Given the description of an element on the screen output the (x, y) to click on. 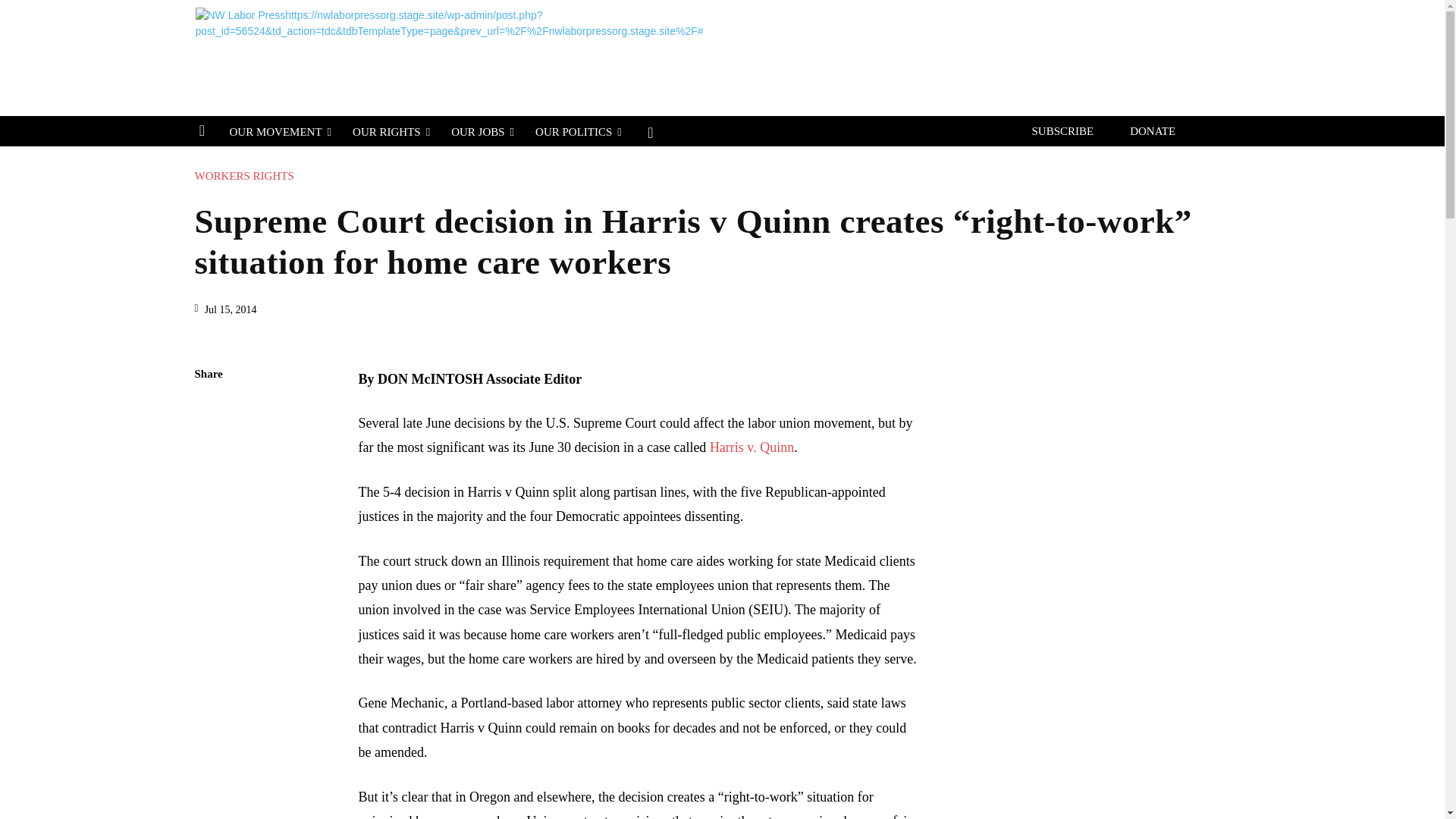
SUBSCRIBE (1062, 131)
DONATE (1152, 131)
NW Labor Press (574, 55)
NW Labor Press (585, 55)
